Given the description of an element on the screen output the (x, y) to click on. 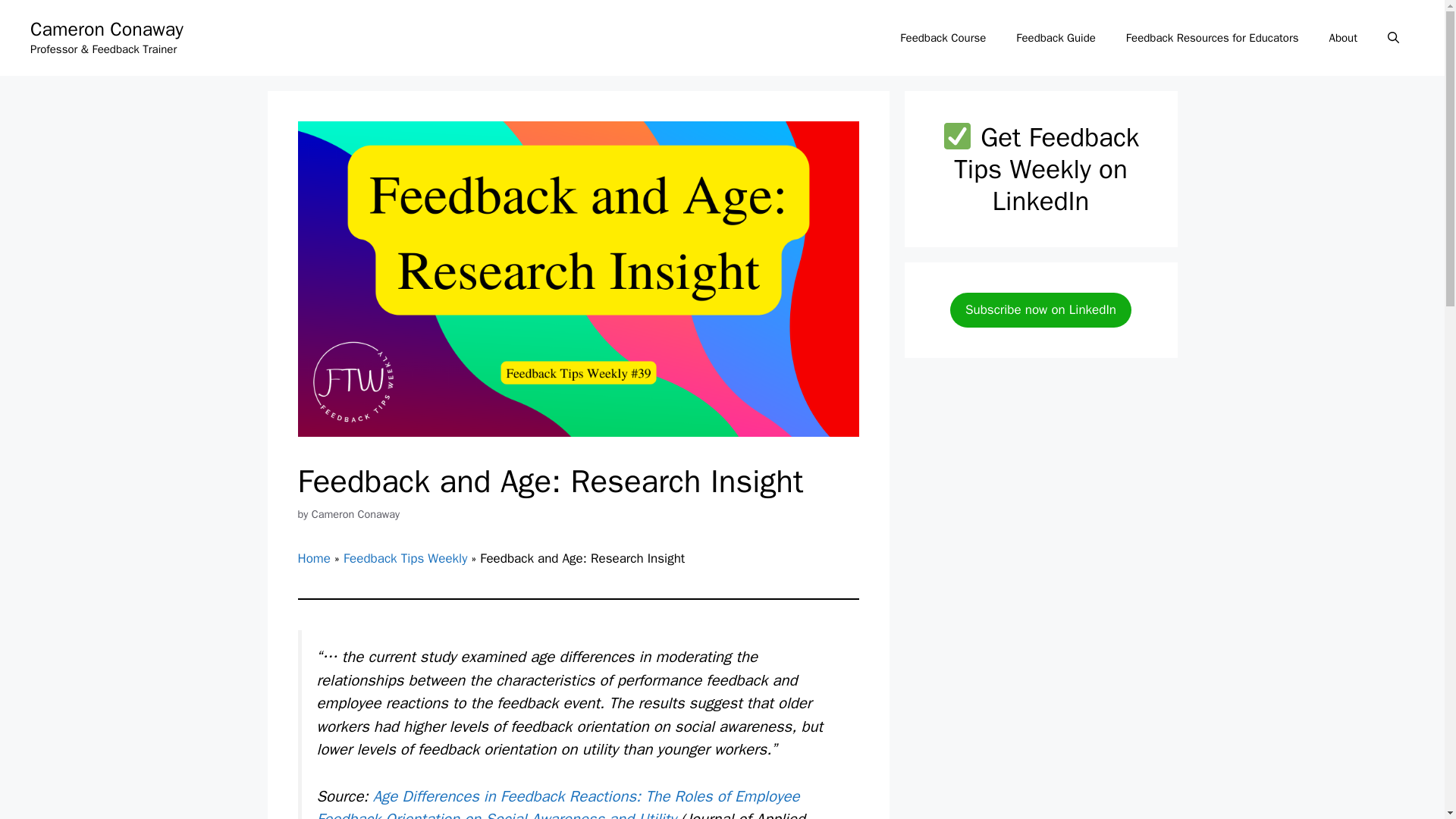
Feedback Resources for Educators (1212, 37)
Feedback Tips Weekly (405, 558)
About (1343, 37)
Feedback Guide (1055, 37)
Subscribe now on LinkedIn (1040, 309)
Cameron Conaway (106, 28)
Home (313, 558)
Feedback Course (943, 37)
